Given the description of an element on the screen output the (x, y) to click on. 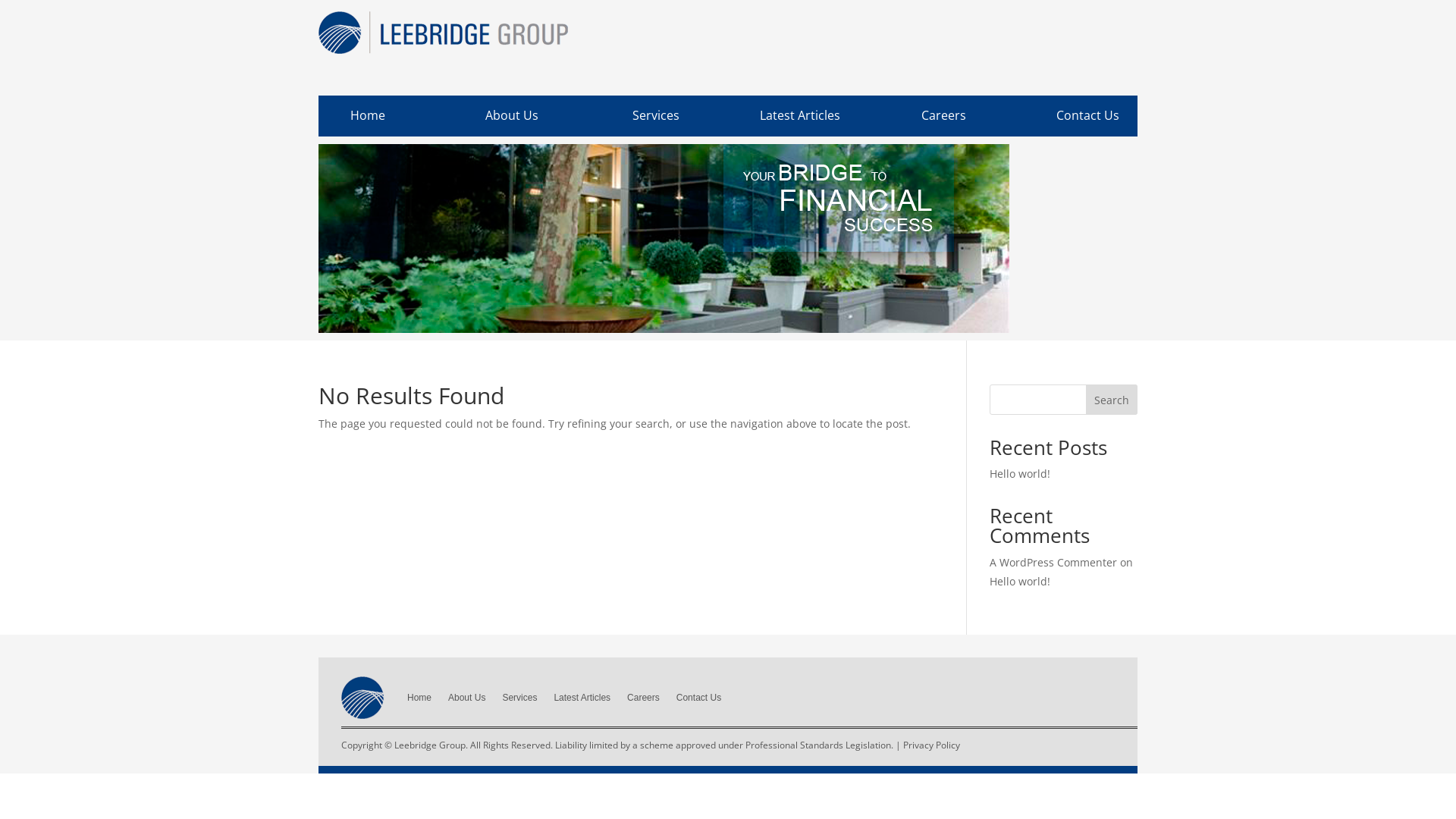
A WordPress Commenter Element type: text (1053, 562)
About Us Element type: text (511, 114)
Careers Element type: text (643, 697)
Search Element type: text (1111, 399)
Hello world! Element type: text (1019, 581)
Services Element type: text (655, 114)
Hello world! Element type: text (1019, 473)
Contact Us Element type: text (698, 697)
Services Element type: text (519, 697)
homeBanner Element type: hover (663, 238)
Home Element type: text (419, 697)
header_logo Element type: hover (442, 32)
Latest Articles Element type: text (581, 697)
About Us Element type: text (466, 697)
